Given the description of an element on the screen output the (x, y) to click on. 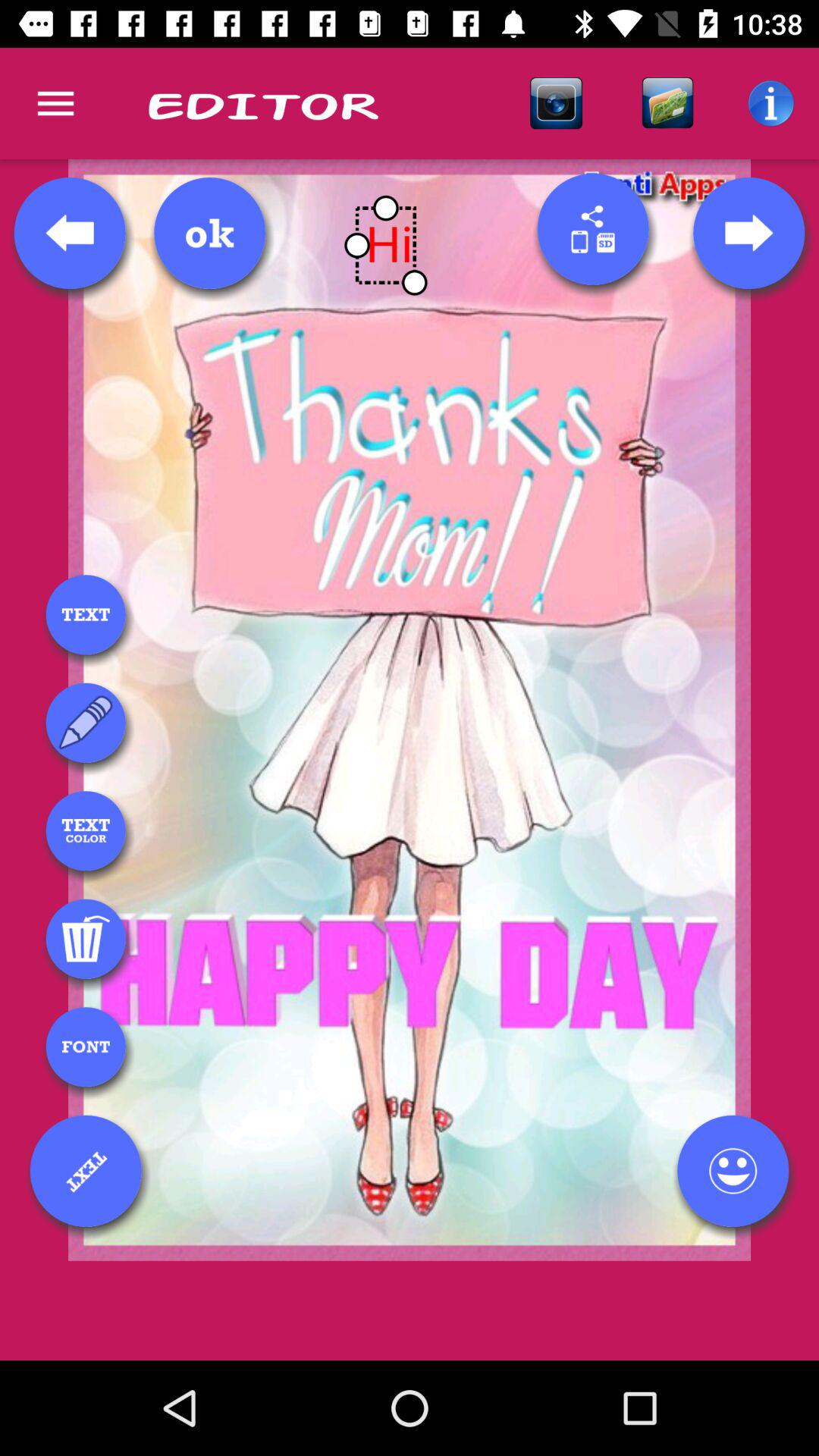
click on ok (210, 232)
